Given the description of an element on the screen output the (x, y) to click on. 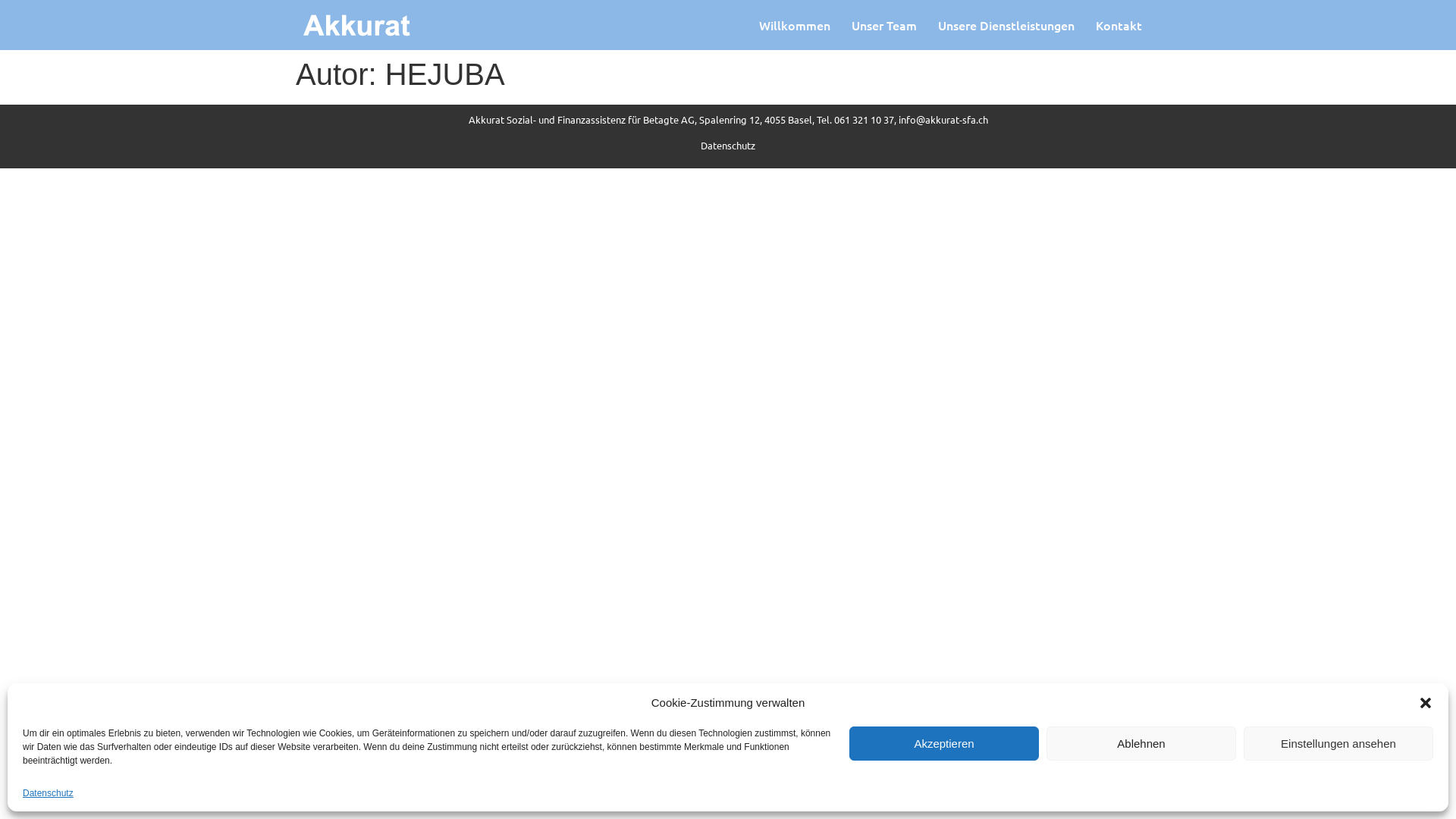
Ablehnen Element type: text (1141, 743)
Unsere Dienstleistungen Element type: text (1006, 24)
Kontakt Element type: text (1118, 24)
Einstellungen ansehen Element type: text (1338, 743)
Datenschutz Element type: text (727, 145)
Willkommen Element type: text (794, 24)
Akzeptieren Element type: text (943, 743)
Unser Team Element type: text (883, 24)
info@akkurat-sfa.ch Element type: text (942, 118)
061 321 10 37 Element type: text (864, 118)
Datenschutz Element type: text (47, 793)
